Given the description of an element on the screen output the (x, y) to click on. 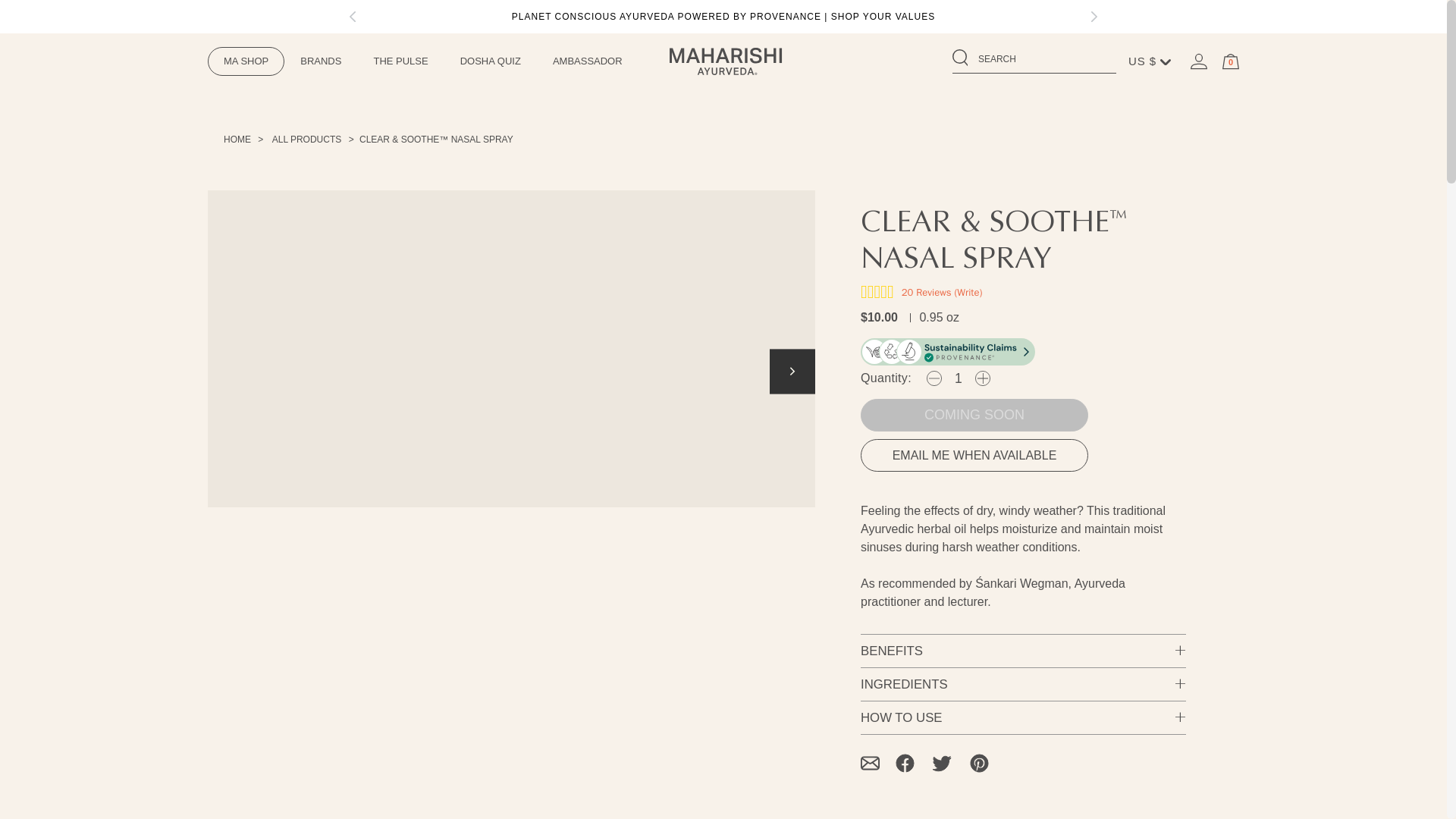
DOSHA QUIZ (490, 61)
Next (1094, 16)
1 (958, 378)
THE PULSE (400, 61)
MA SHOP (245, 61)
AMBASSADOR (588, 61)
Previous (352, 16)
BRANDS (319, 61)
